Given the description of an element on the screen output the (x, y) to click on. 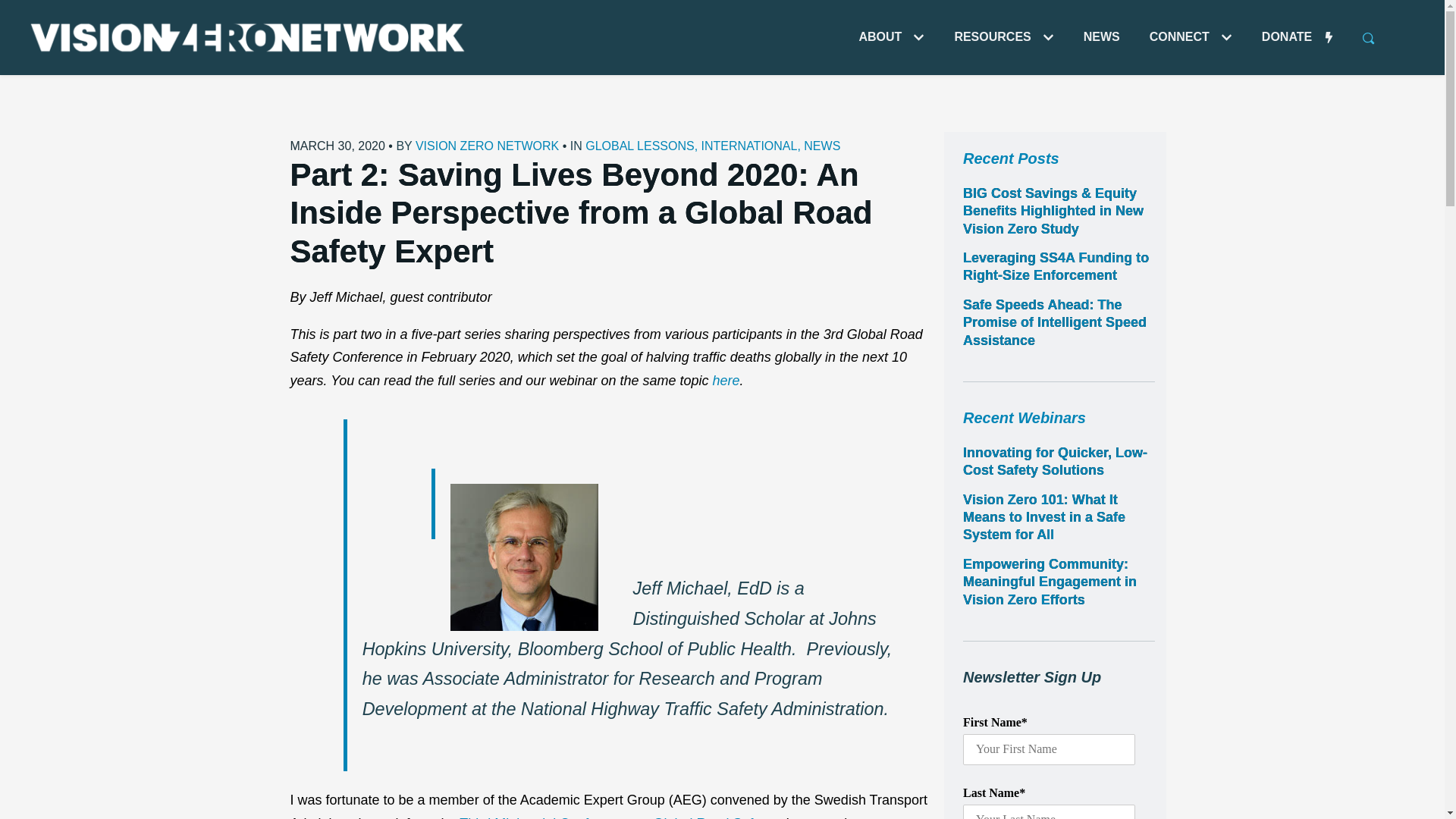
ABOUT (892, 37)
